Given the description of an element on the screen output the (x, y) to click on. 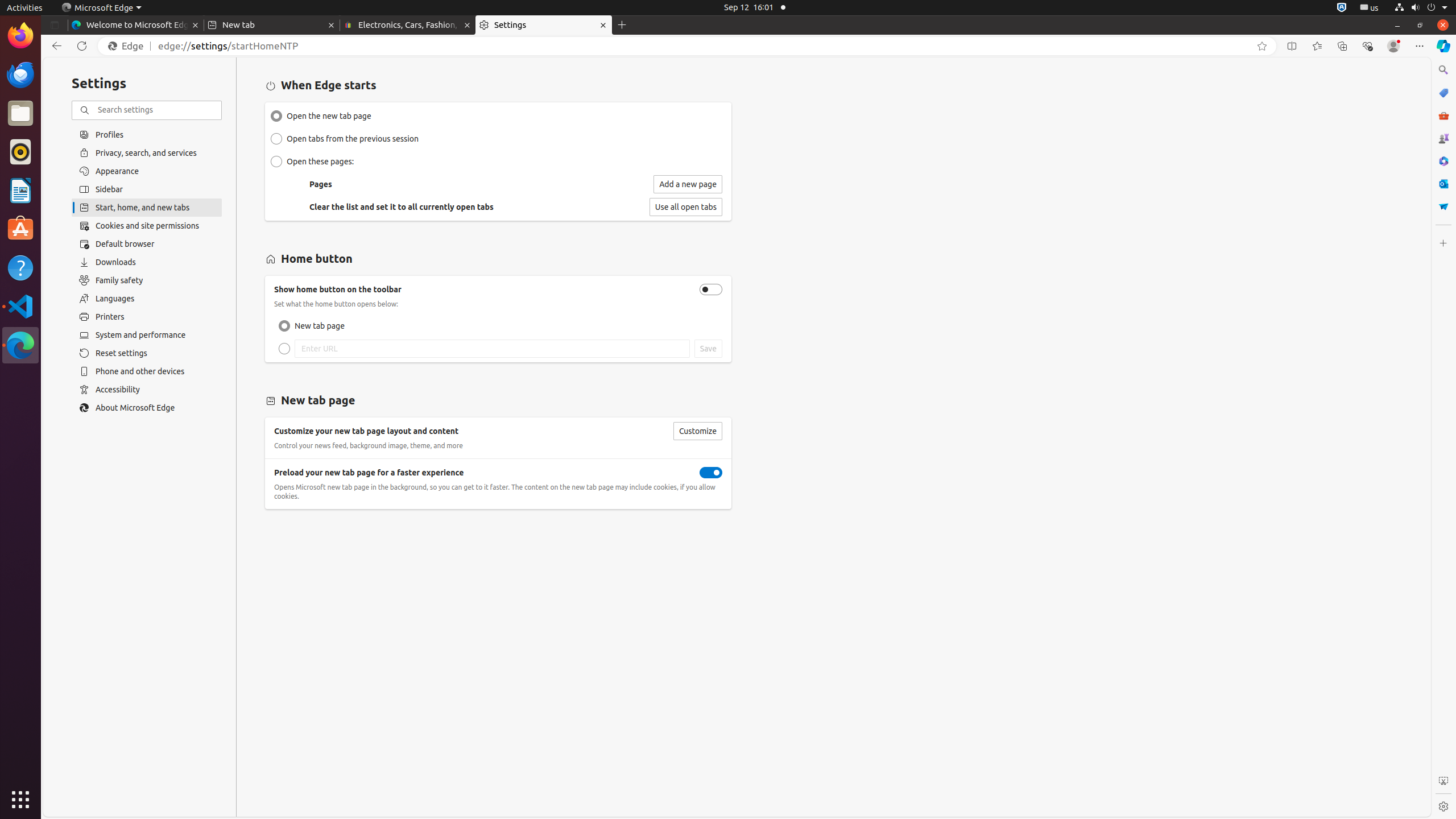
Downloads Element type: tree-item (146, 262)
Rhythmbox Element type: push-button (20, 151)
Search Element type: push-button (1443, 69)
Start, home, and new tabs Element type: tree-item (146, 207)
Tools Element type: push-button (1443, 115)
